Given the description of an element on the screen output the (x, y) to click on. 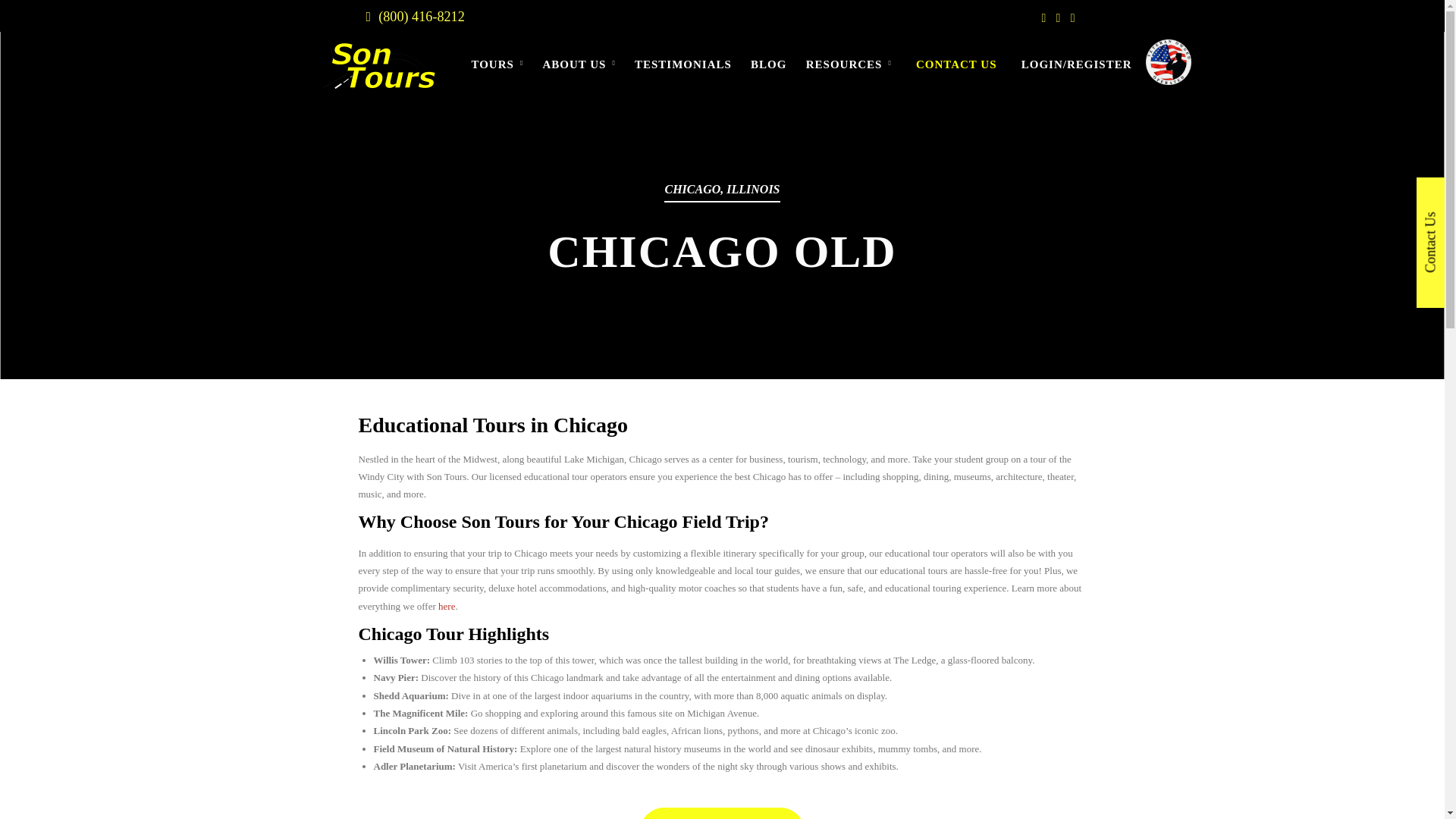
TOURS (497, 75)
